Given the description of an element on the screen output the (x, y) to click on. 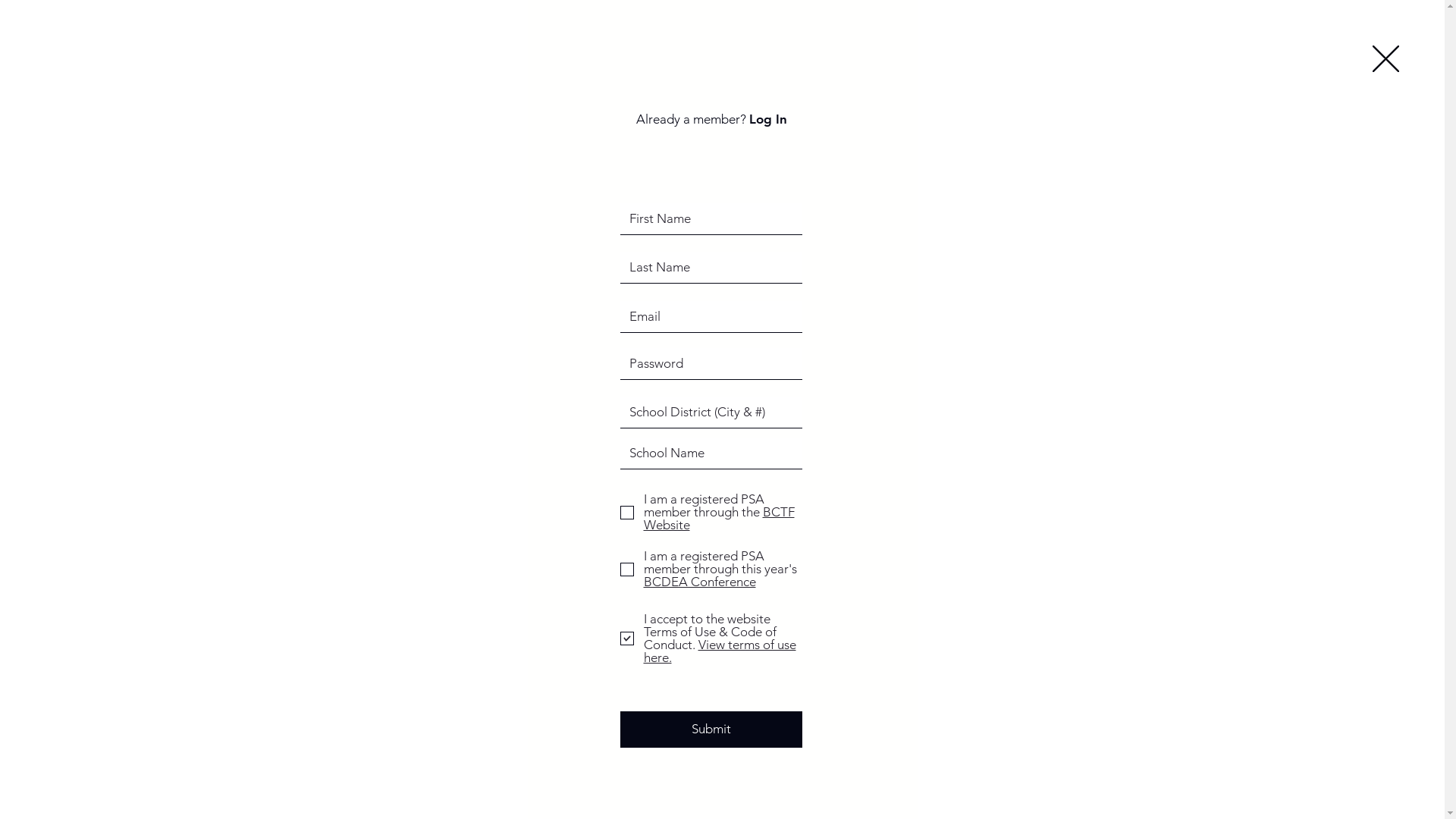
BCTF Website Element type: text (718, 518)
View terms of use here. Element type: text (719, 651)
Back to site Element type: hover (1385, 58)
Submit Element type: text (711, 729)
